Given the description of an element on the screen output the (x, y) to click on. 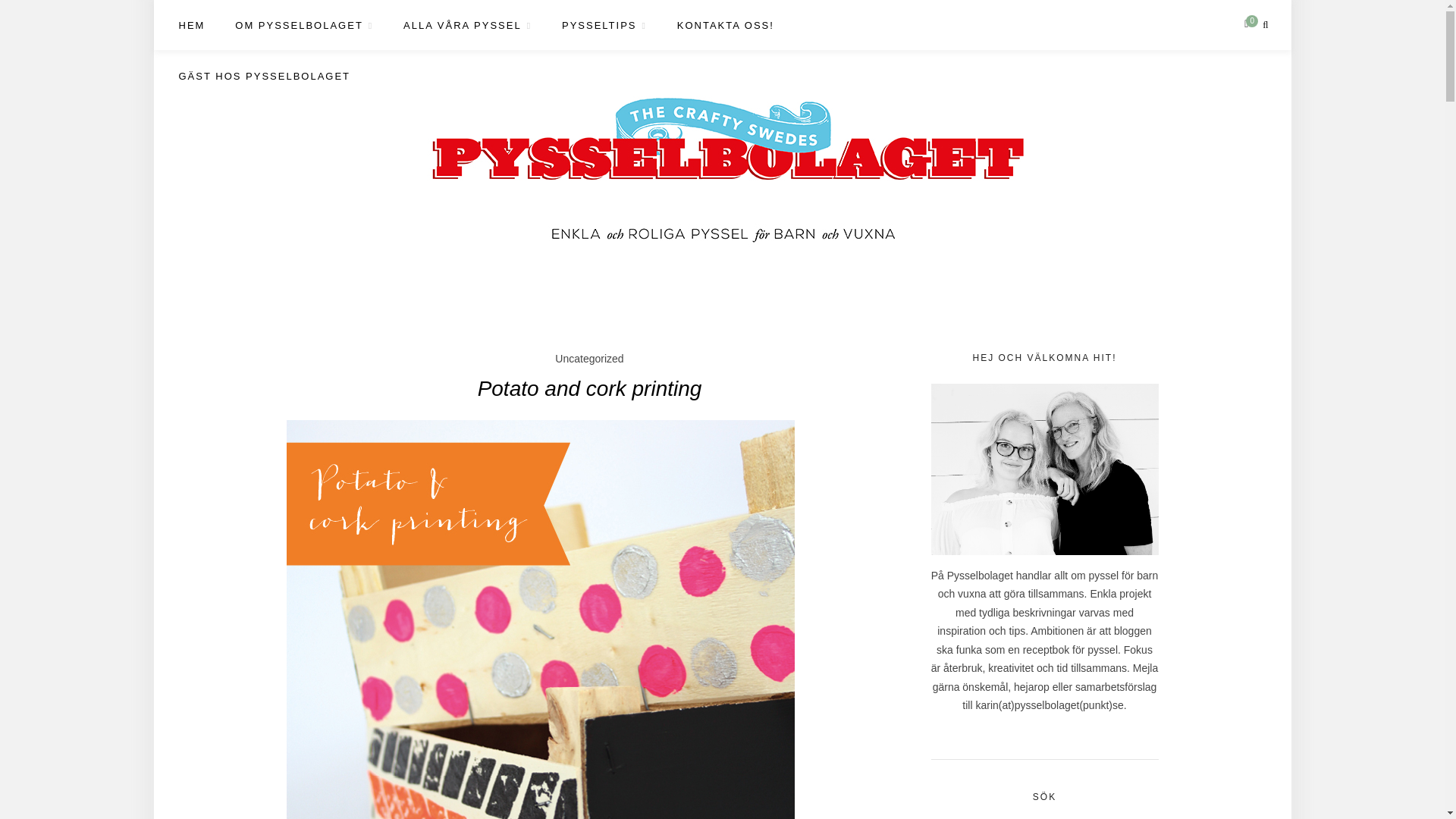
PYSSELTIPS (604, 25)
KONTAKTA OSS! (725, 25)
OM PYSSELBOLAGET (303, 25)
